Given the description of an element on the screen output the (x, y) to click on. 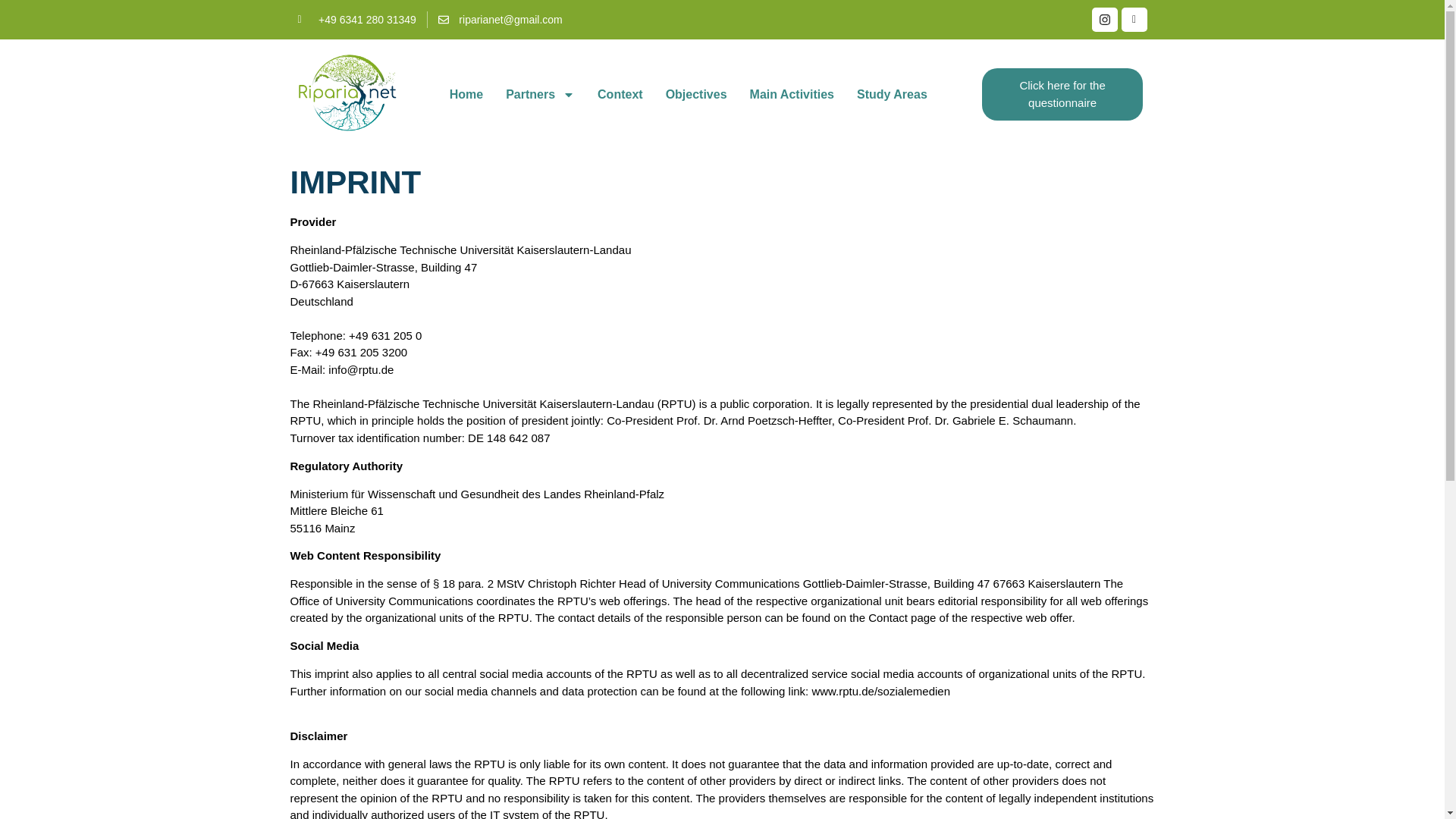
Objectives (695, 94)
Study Areas (892, 94)
Partners (540, 94)
Main Activities (791, 94)
Click here for the questionnaire (1061, 93)
Home (466, 94)
Context (619, 94)
